Given the description of an element on the screen output the (x, y) to click on. 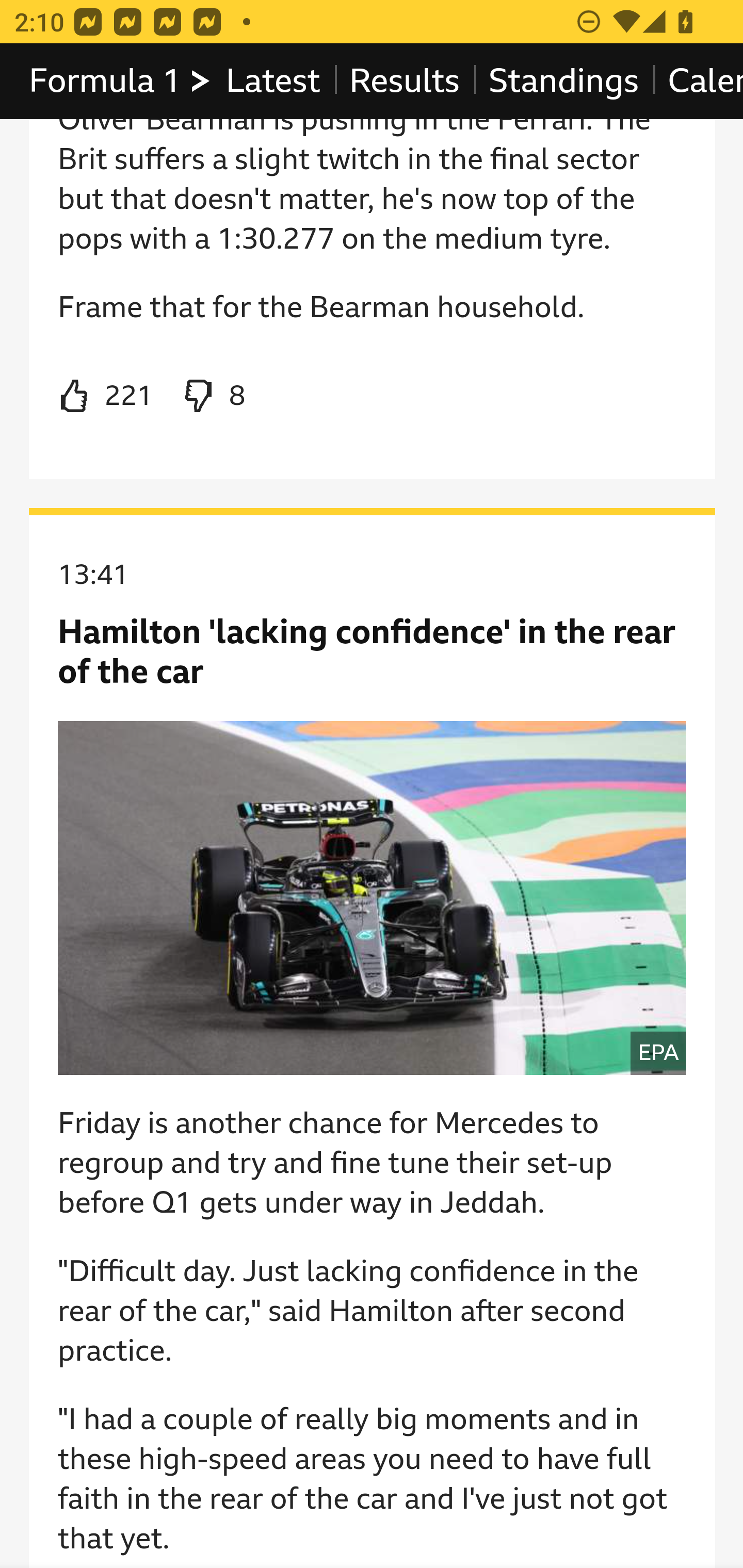
Like (105, 396)
Dislike (212, 396)
